Given the description of an element on the screen output the (x, y) to click on. 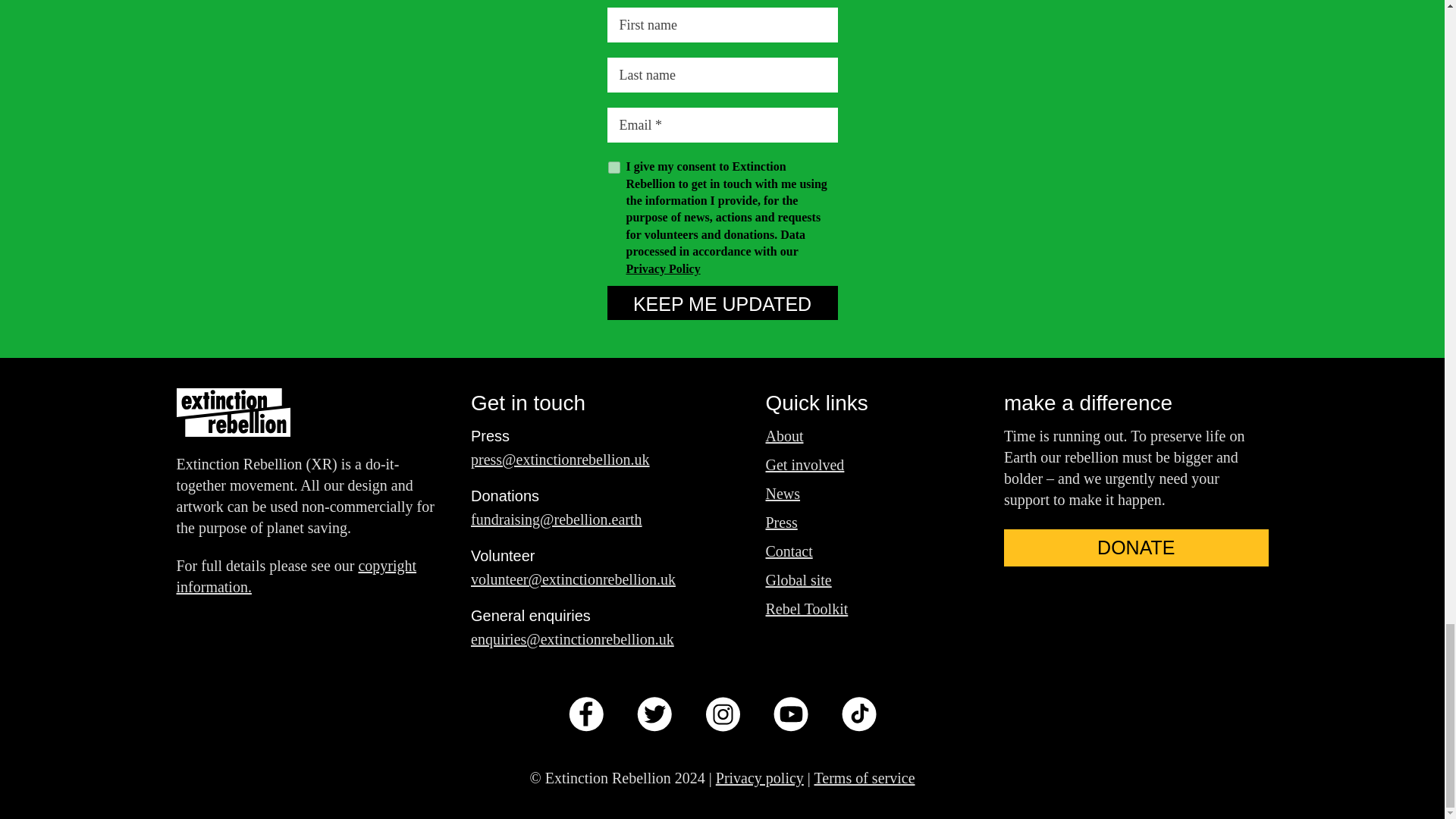
Yes (614, 167)
Keep me updated (722, 302)
